Given the description of an element on the screen output the (x, y) to click on. 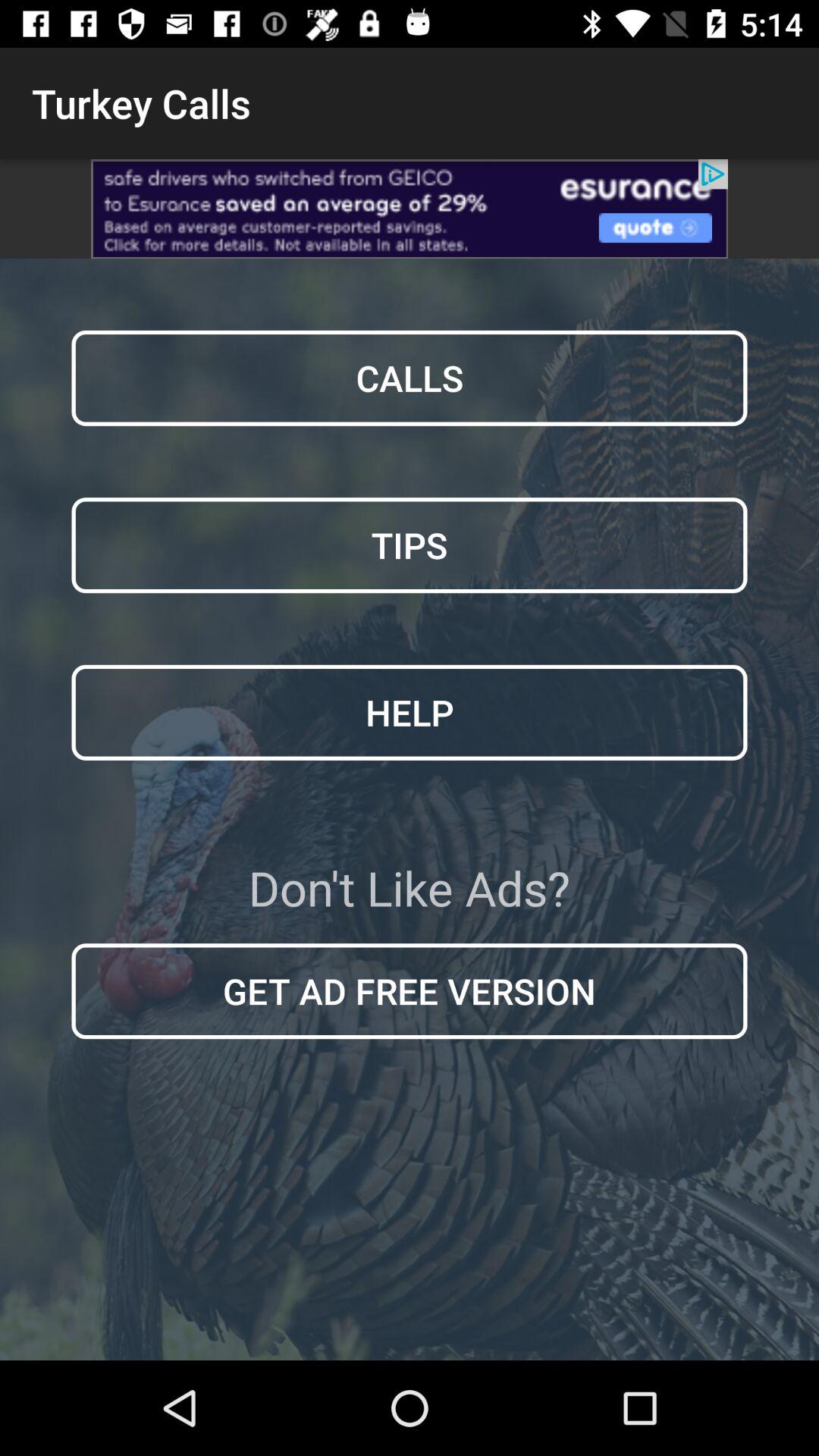
click to view advertisements options (409, 208)
